Given the description of an element on the screen output the (x, y) to click on. 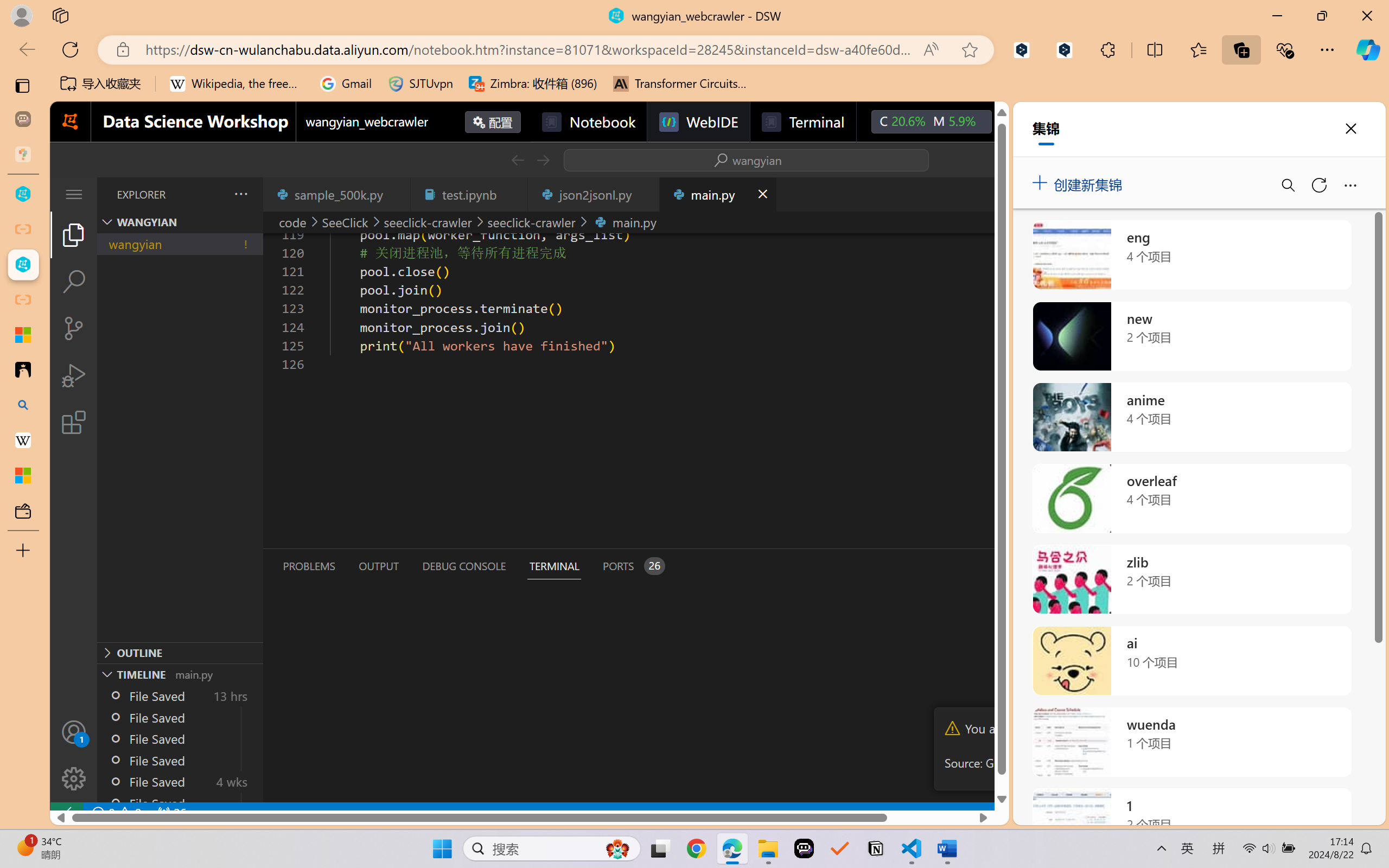
Wikipedia, the free encyclopedia (236, 83)
Copilot (Ctrl+Shift+.) (1368, 49)
Outline Section (179, 652)
remote (66, 812)
Notebook (588, 121)
Terminal (Ctrl+`) (553, 565)
Manage (73, 755)
